Given the description of an element on the screen output the (x, y) to click on. 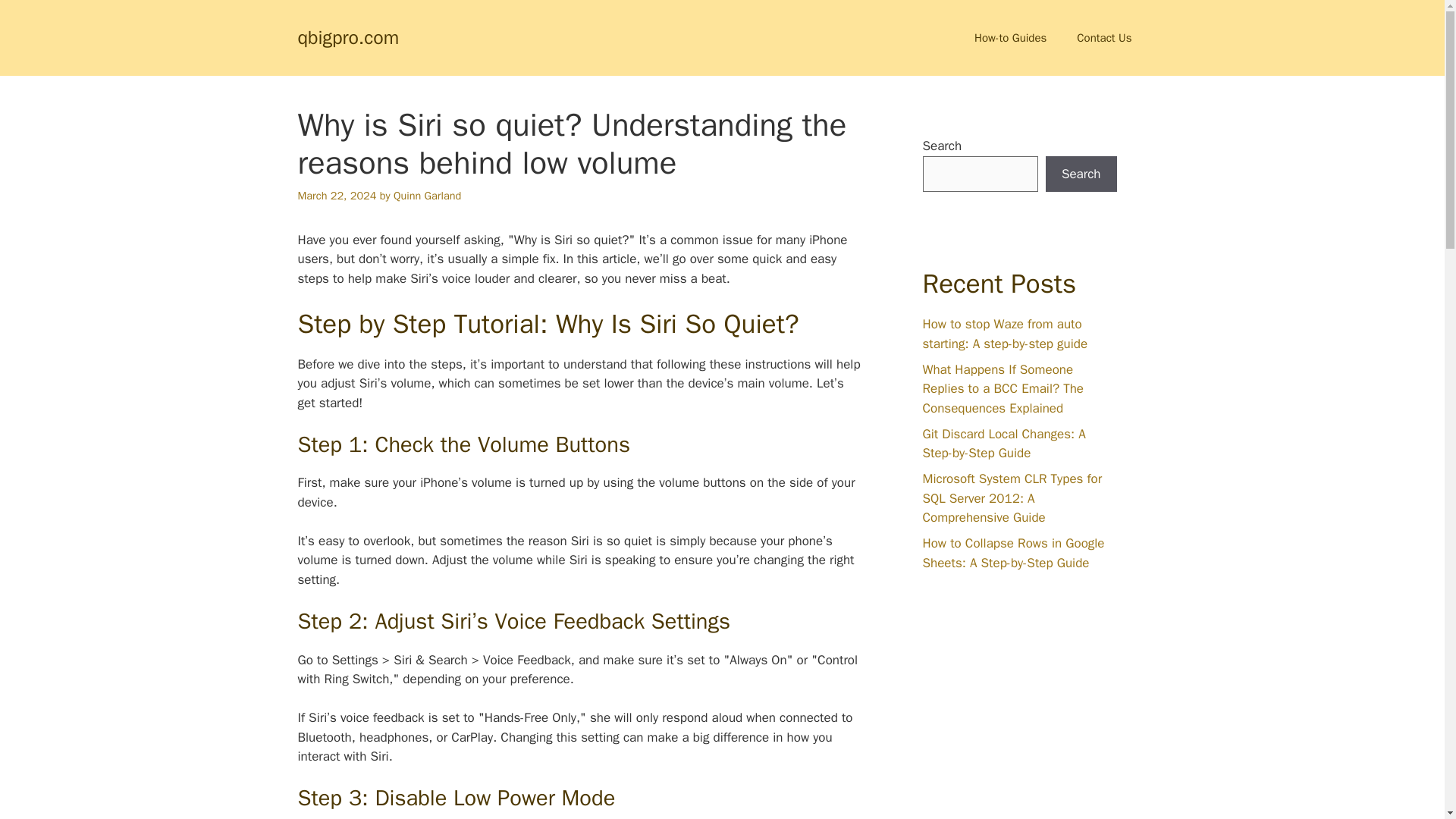
Search (1080, 174)
Contact Us (1104, 37)
Quinn Garland (427, 195)
Git Discard Local Changes: A Step-by-Step Guide (1002, 443)
How to Collapse Rows in Google Sheets: A Step-by-Step Guide (1012, 552)
How to stop Waze from auto starting: A step-by-step guide (1004, 334)
qbigpro.com (347, 37)
How-to Guides (1010, 37)
